Given the description of an element on the screen output the (x, y) to click on. 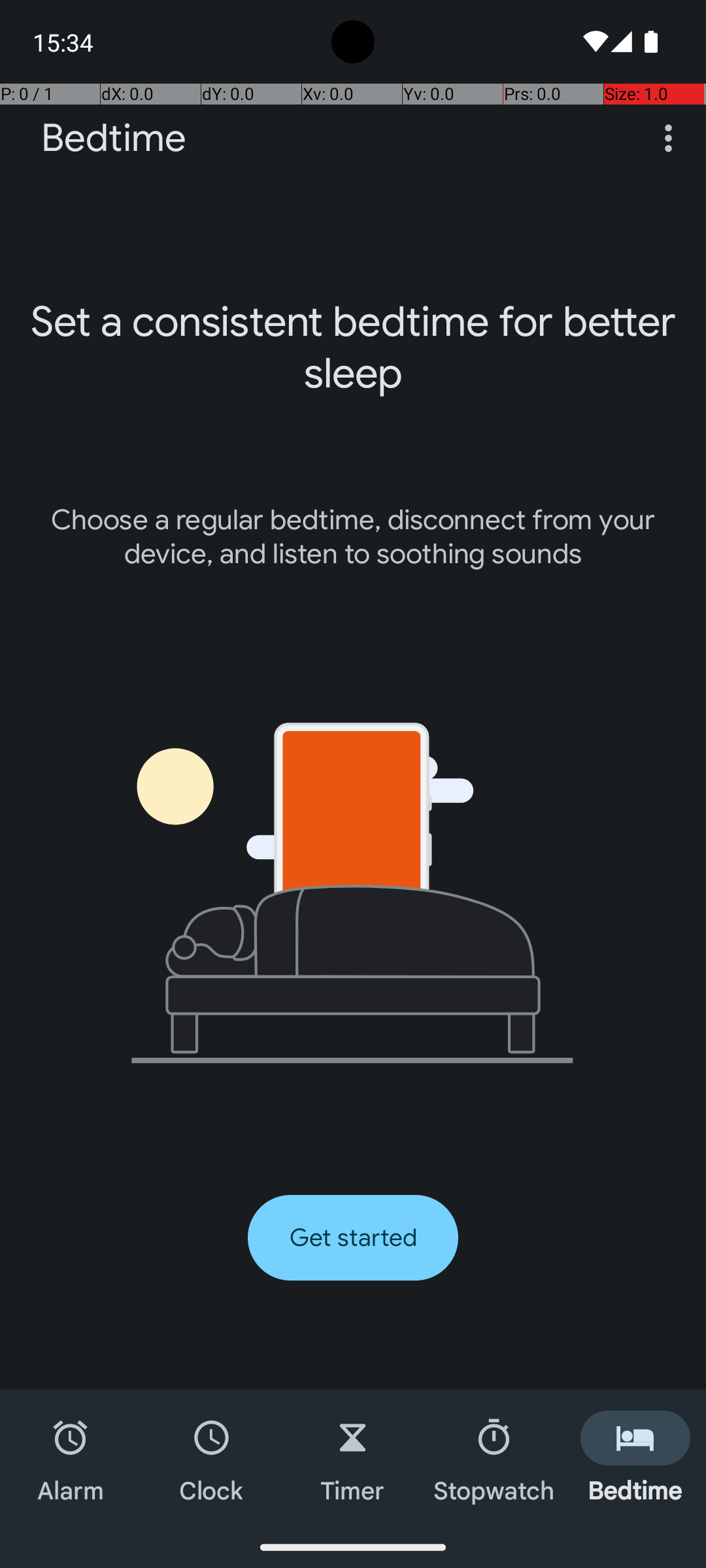
Wifi signal full. Element type: android.widget.FrameLayout (593, 41)
